Given the description of an element on the screen output the (x, y) to click on. 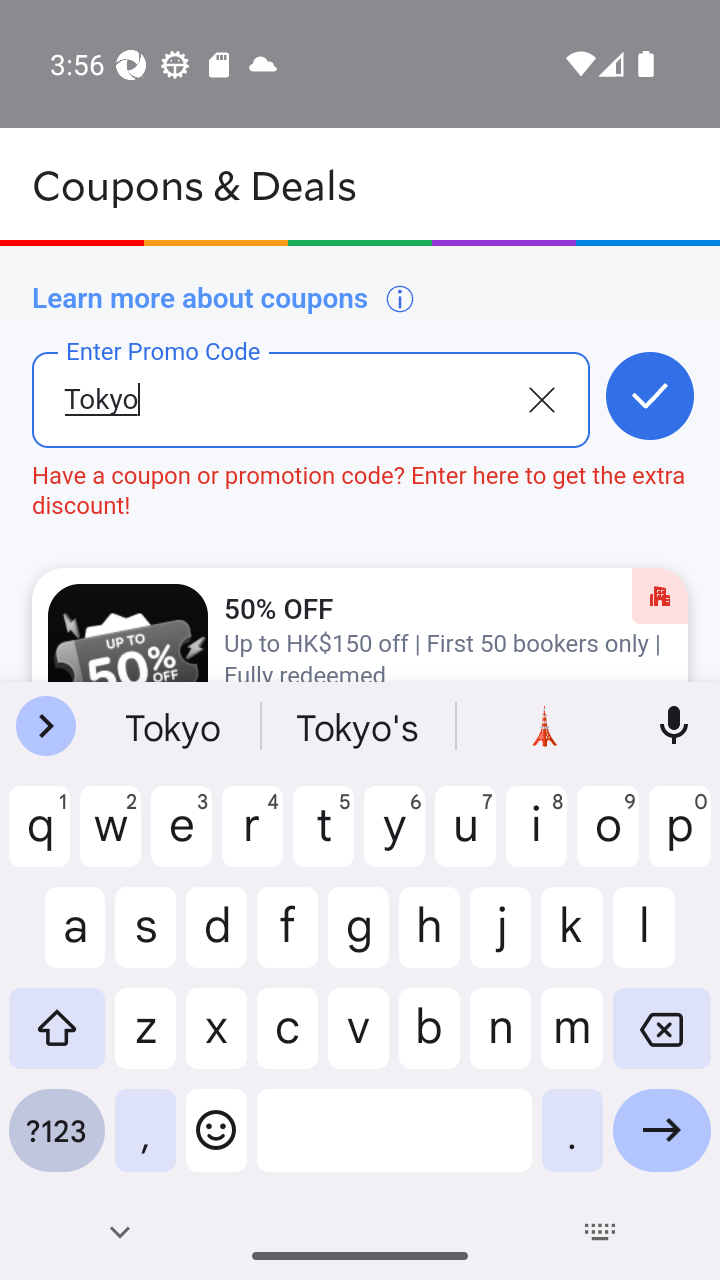
Learn more about coupons (224, 298)
Tokyo (278, 415)
Clear (541, 398)
